Given the description of an element on the screen output the (x, y) to click on. 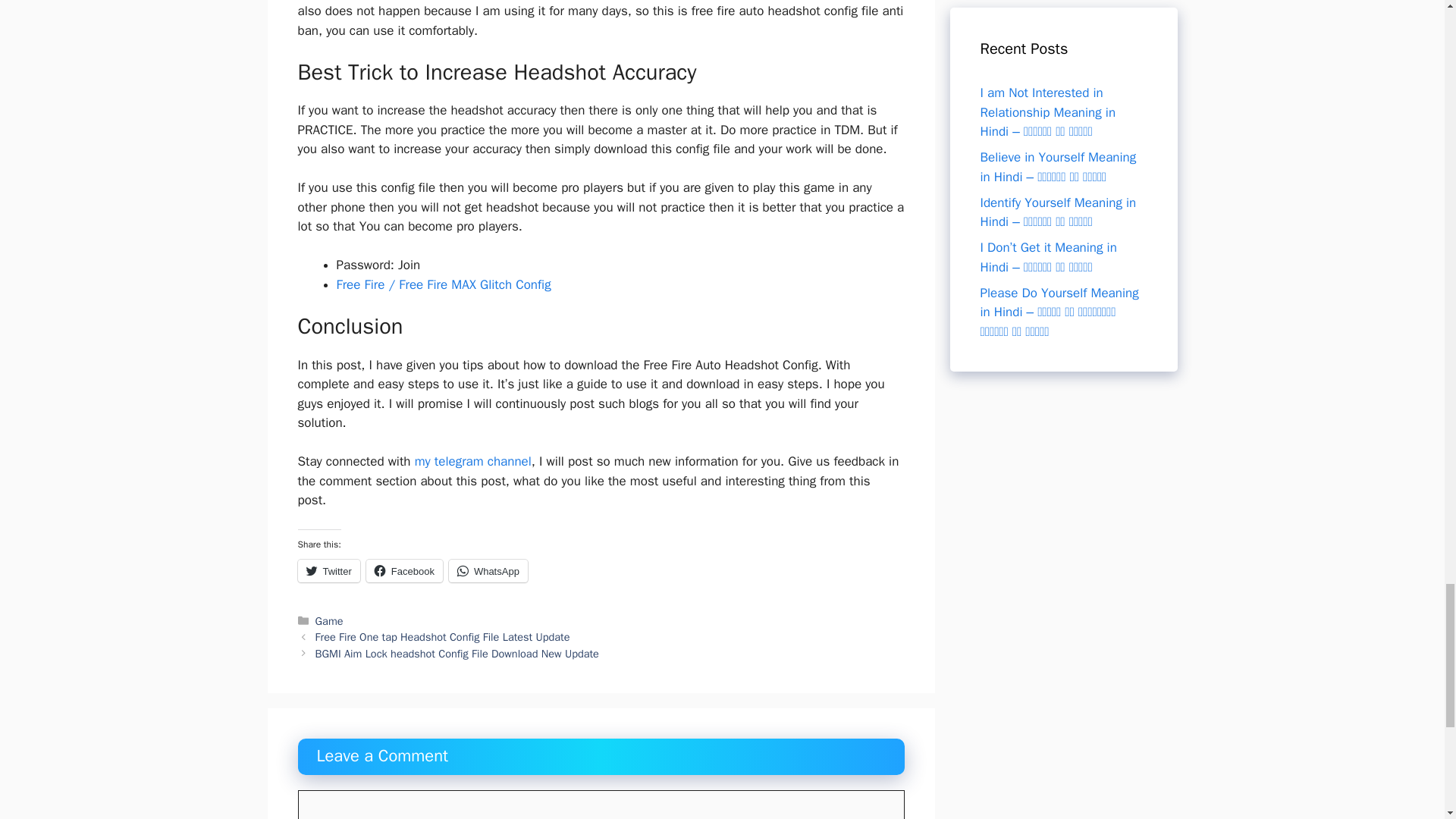
Twitter (328, 570)
Click to share on Twitter (328, 570)
Click to share on WhatsApp (487, 570)
Free Fire One tap Headshot Config File Latest Update (442, 636)
BGMI Aim Lock headshot Config File Download New Update (456, 653)
WhatsApp (487, 570)
Click to share on Facebook (404, 570)
Facebook (404, 570)
my telegram channel (472, 461)
Game (329, 621)
